Given the description of an element on the screen output the (x, y) to click on. 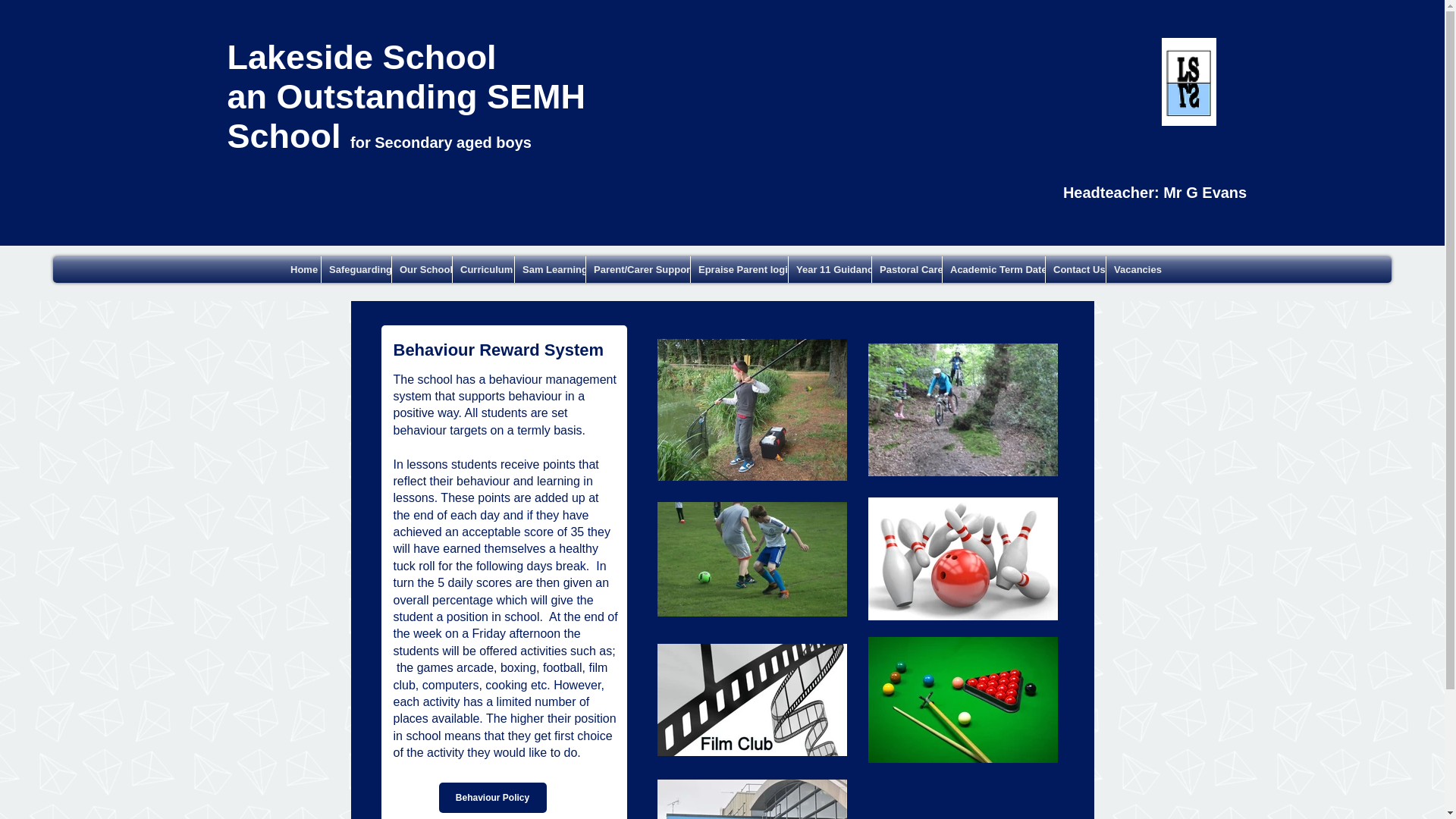
Epraise Parent login (738, 269)
Safeguarding (356, 269)
Lakeside School (361, 56)
Our School (421, 269)
Home (301, 269)
Curriculum (482, 269)
Year 11 Guidance (829, 269)
Sam Learning (550, 269)
Pastoral Care (907, 269)
